Given the description of an element on the screen output the (x, y) to click on. 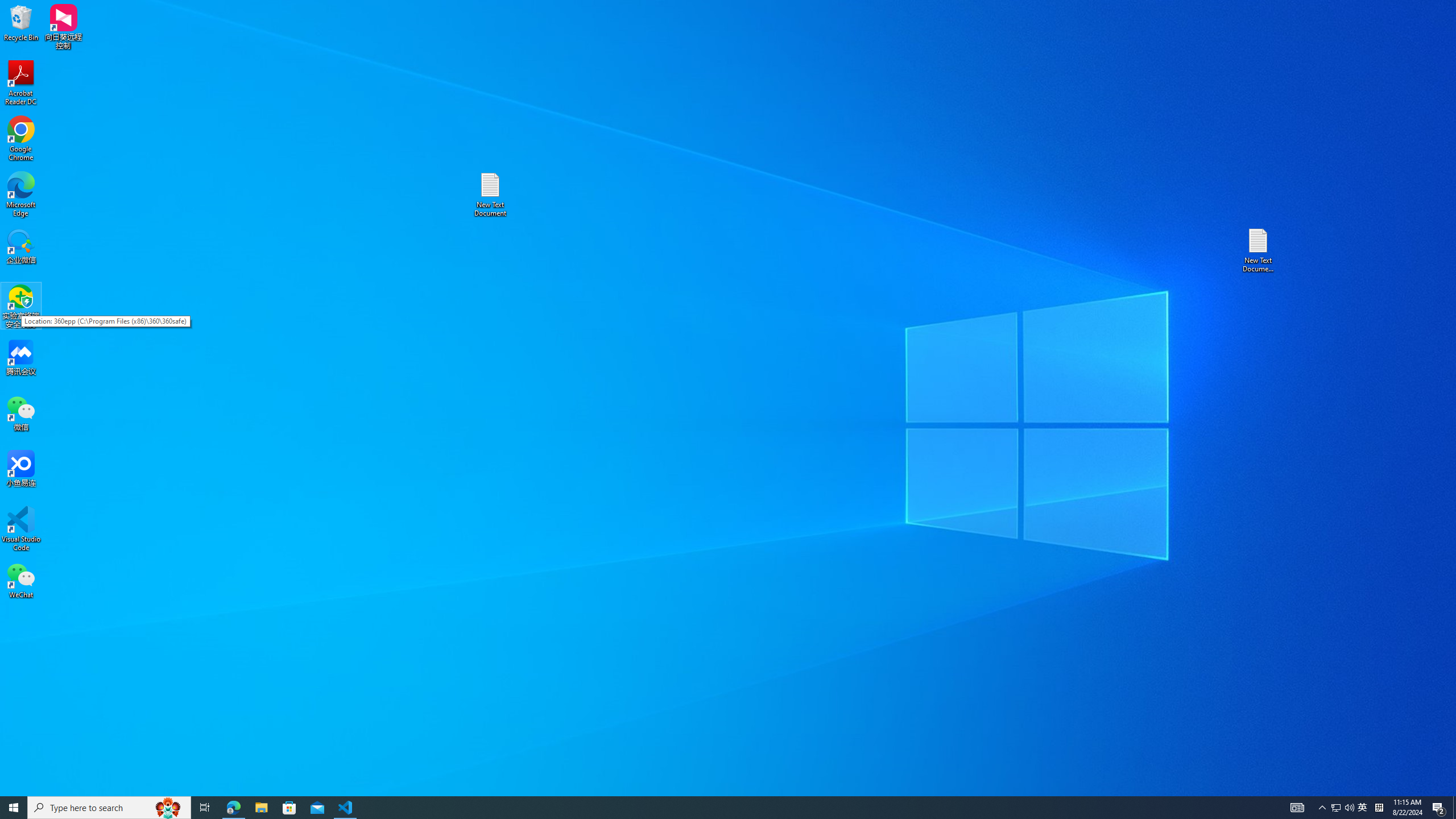
Type here to search (108, 807)
Tray Input Indicator - Chinese (Simplified, China) (1378, 807)
